Given the description of an element on the screen output the (x, y) to click on. 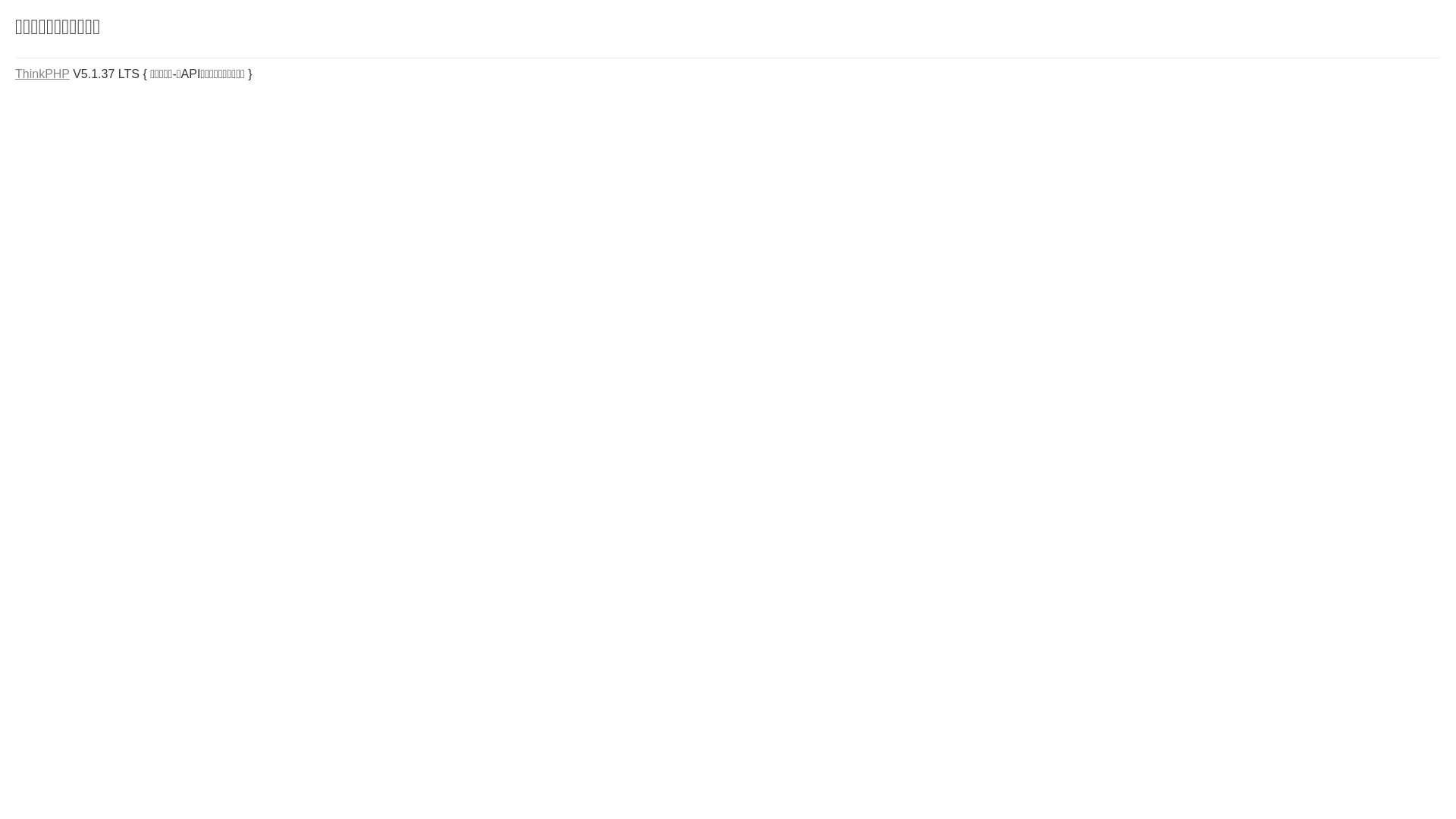
ThinkPHP Element type: text (42, 73)
